Given the description of an element on the screen output the (x, y) to click on. 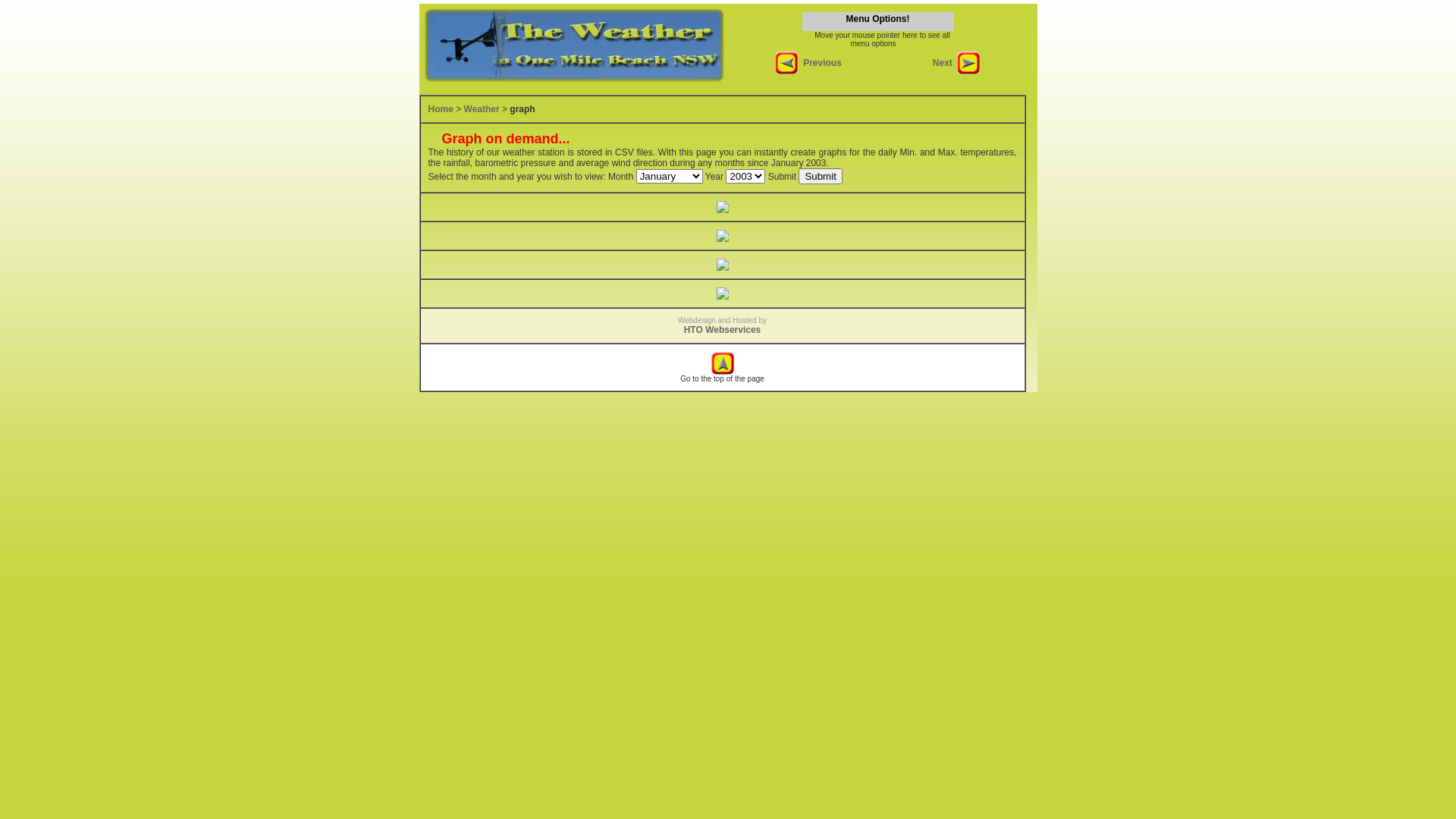
Weather Element type: text (481, 108)
Home Element type: text (439, 108)
Menu Options! Element type: text (878, 21)
  Previous Element type: text (818, 62)
Next   Element type: text (944, 62)
HTO Webservices Element type: text (722, 329)
Submit Element type: text (819, 176)
